Given the description of an element on the screen output the (x, y) to click on. 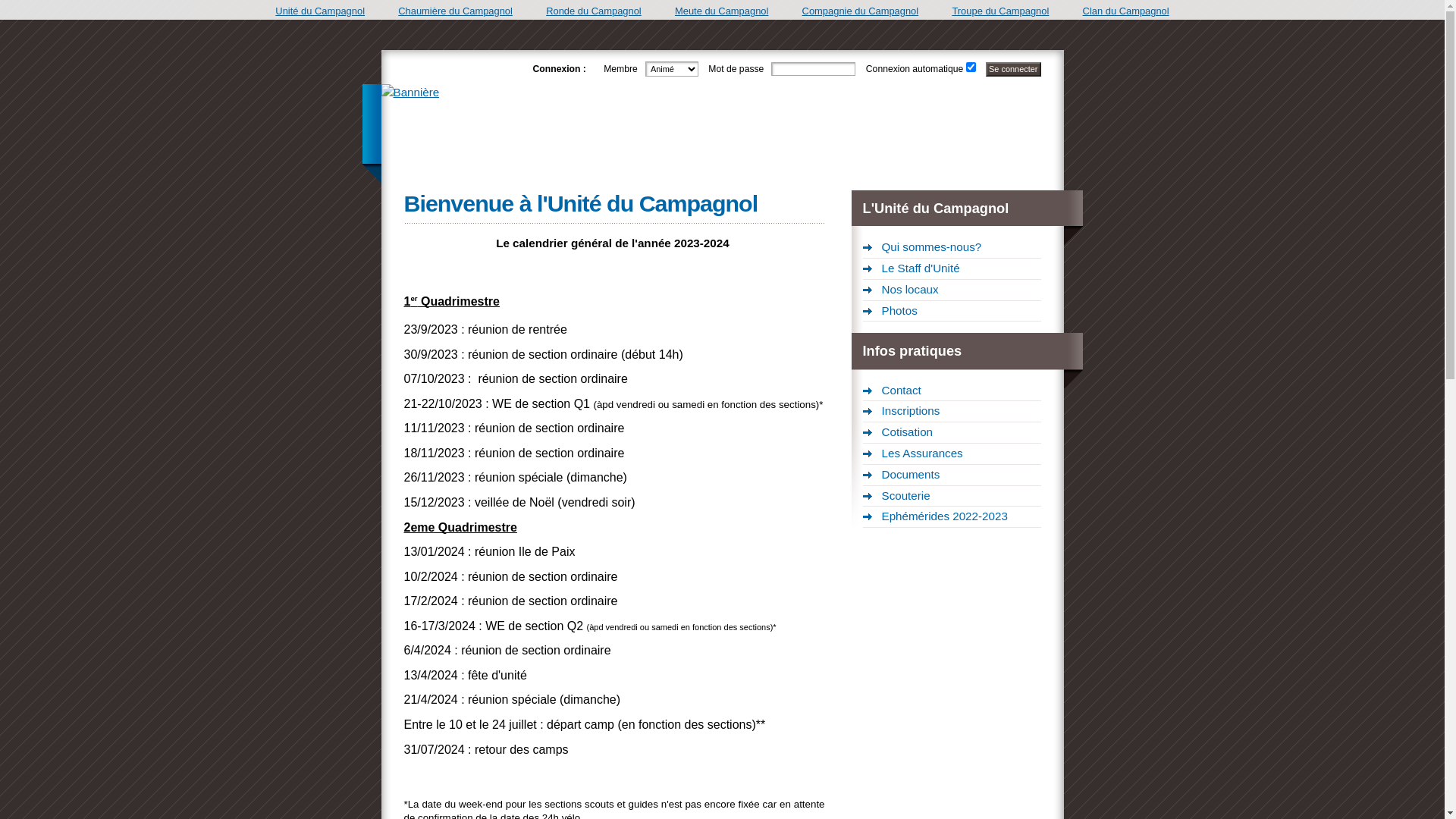
Cotisation Element type: text (951, 432)
Les Assurances Element type: text (951, 453)
Inscriptions Element type: text (951, 411)
Qui sommes-nous? Element type: text (951, 247)
Compagnie du Campagnol Element type: text (860, 10)
Photos Element type: text (951, 311)
Scouterie Element type: text (951, 496)
Nos locaux Element type: text (951, 290)
Troupe du Campagnol Element type: text (999, 10)
Clan du Campagnol Element type: text (1125, 10)
Documents Element type: text (951, 475)
Se connecter Element type: text (1012, 69)
Ronde du Campagnol Element type: text (593, 10)
Contact Element type: text (951, 390)
Meute du Campagnol Element type: text (721, 10)
